Given the description of an element on the screen output the (x, y) to click on. 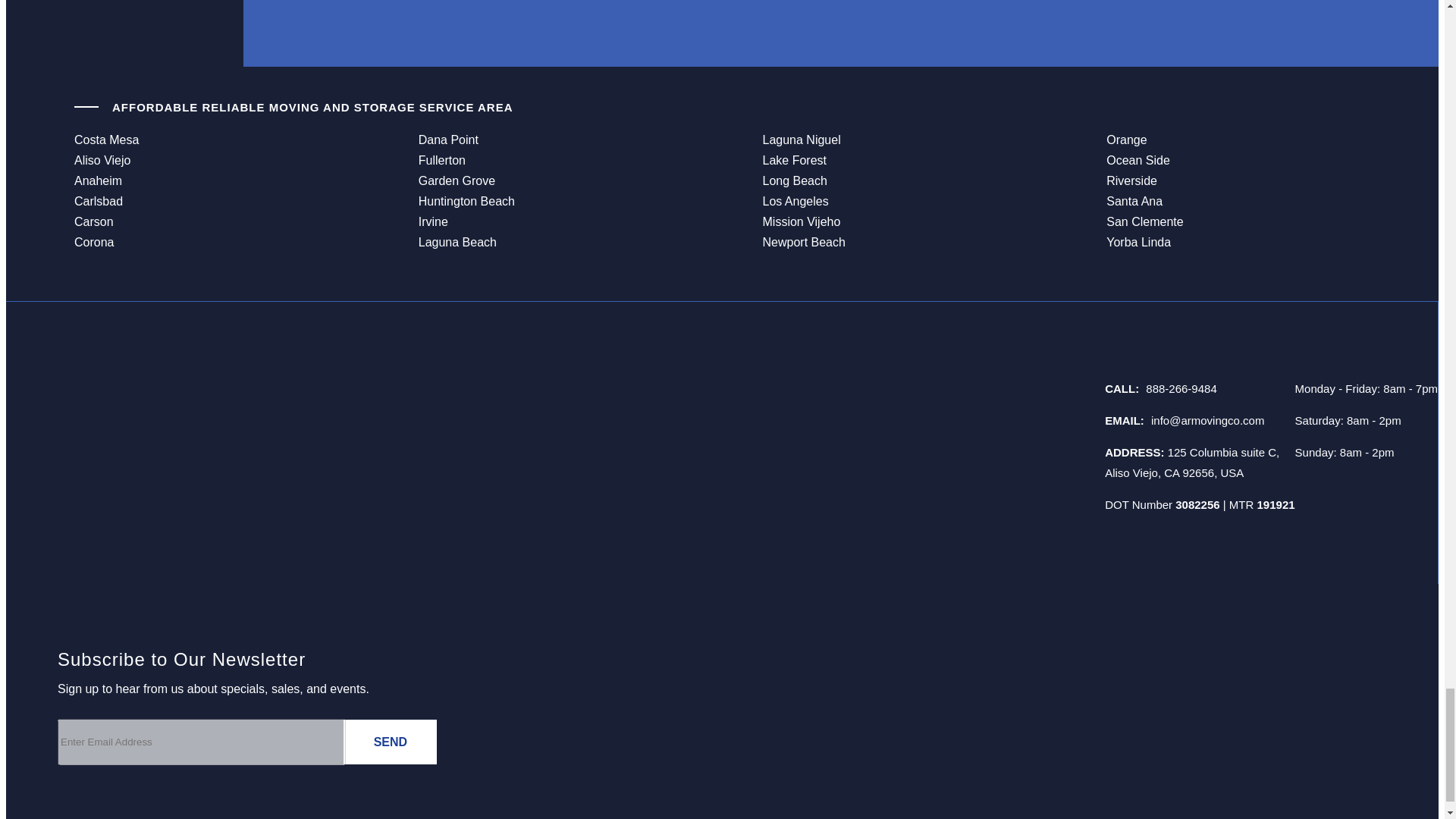
SEND (389, 741)
